Given the description of an element on the screen output the (x, y) to click on. 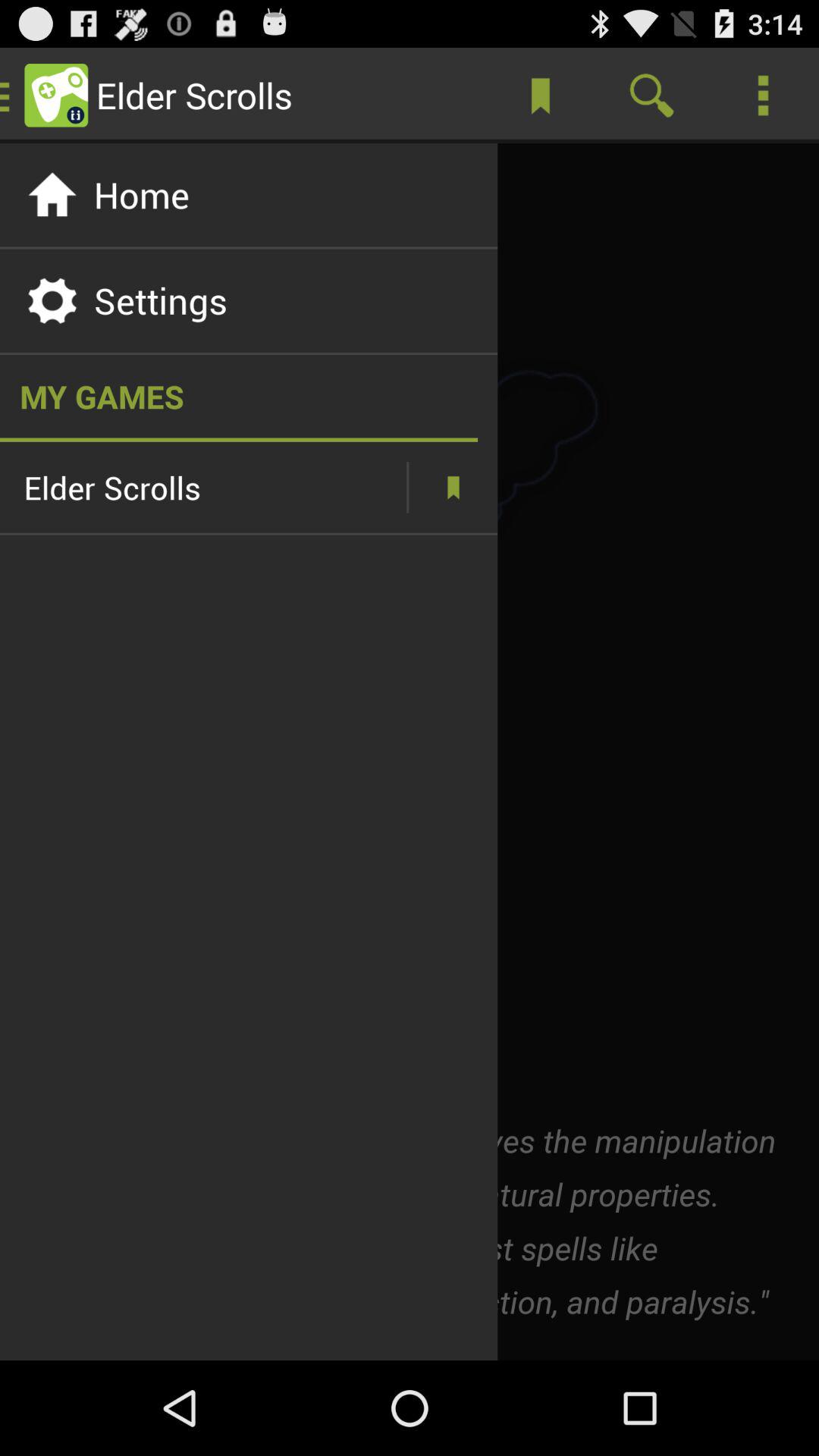
bookmarks (452, 486)
